Given the description of an element on the screen output the (x, y) to click on. 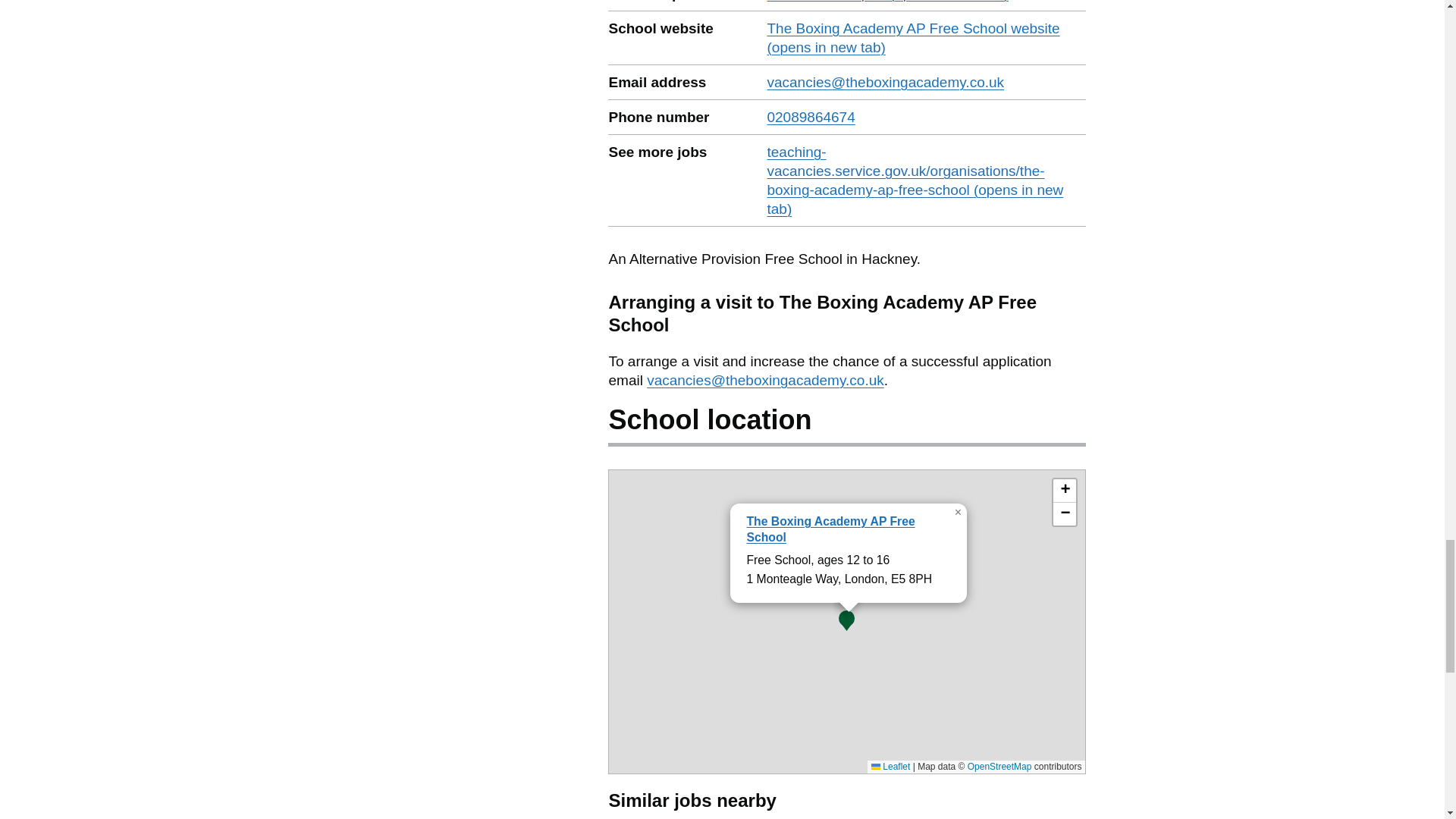
A JavaScript library for interactive maps (890, 766)
Zoom in (1063, 490)
Leaflet (890, 766)
Zoom out (1063, 513)
OpenStreetMap (1000, 766)
02089864674 (810, 116)
The Boxing Academy AP Free School (829, 529)
